Given the description of an element on the screen output the (x, y) to click on. 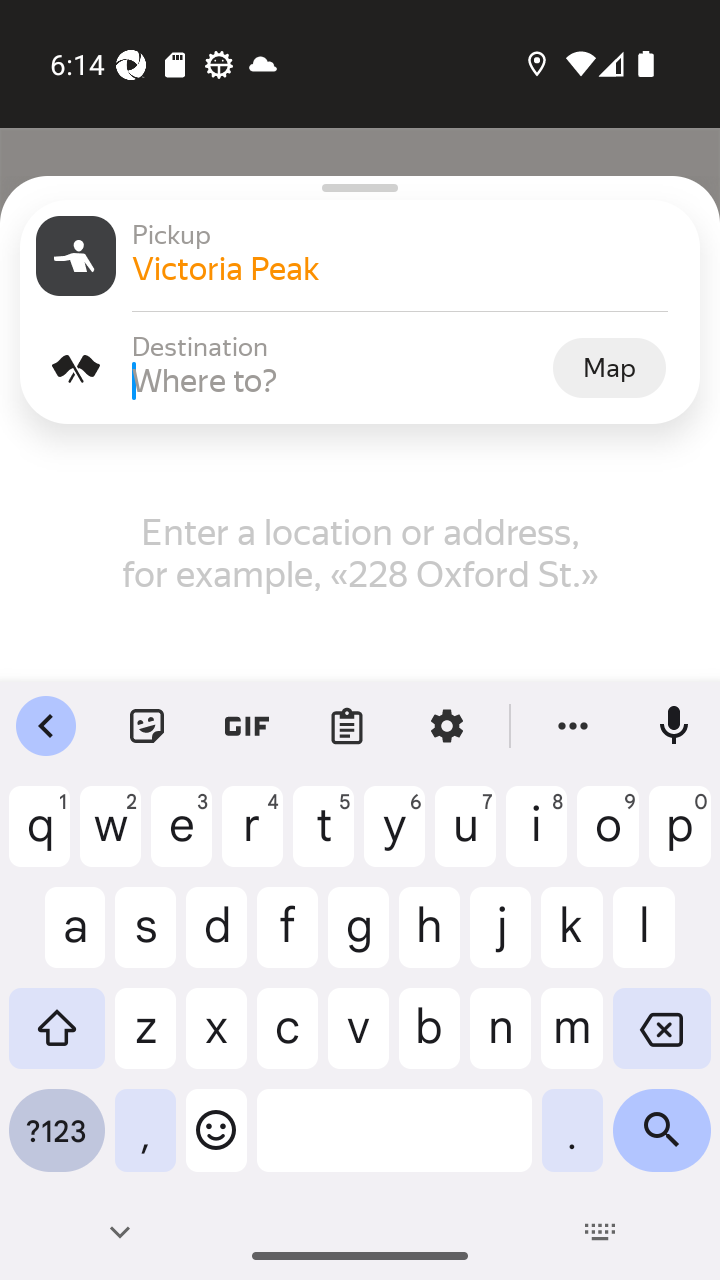
Pickup Pickup Victoria Peak (359, 255)
Victoria Peak (407, 268)
Destination Destination Where to? Map (359, 367)
Map (609, 367)
Where to? (340, 380)
